Given the description of an element on the screen output the (x, y) to click on. 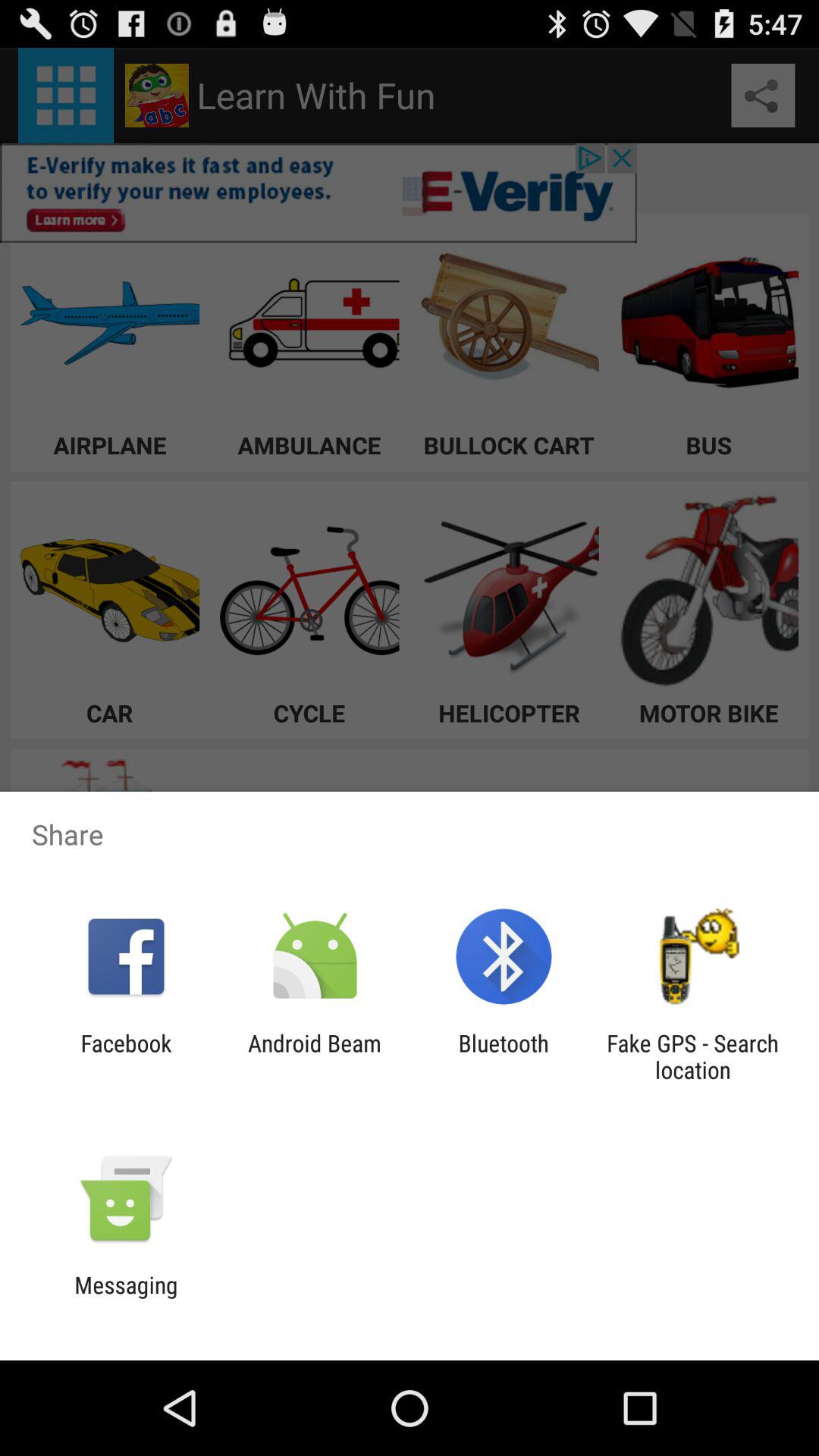
open app next to bluetooth icon (692, 1056)
